Given the description of an element on the screen output the (x, y) to click on. 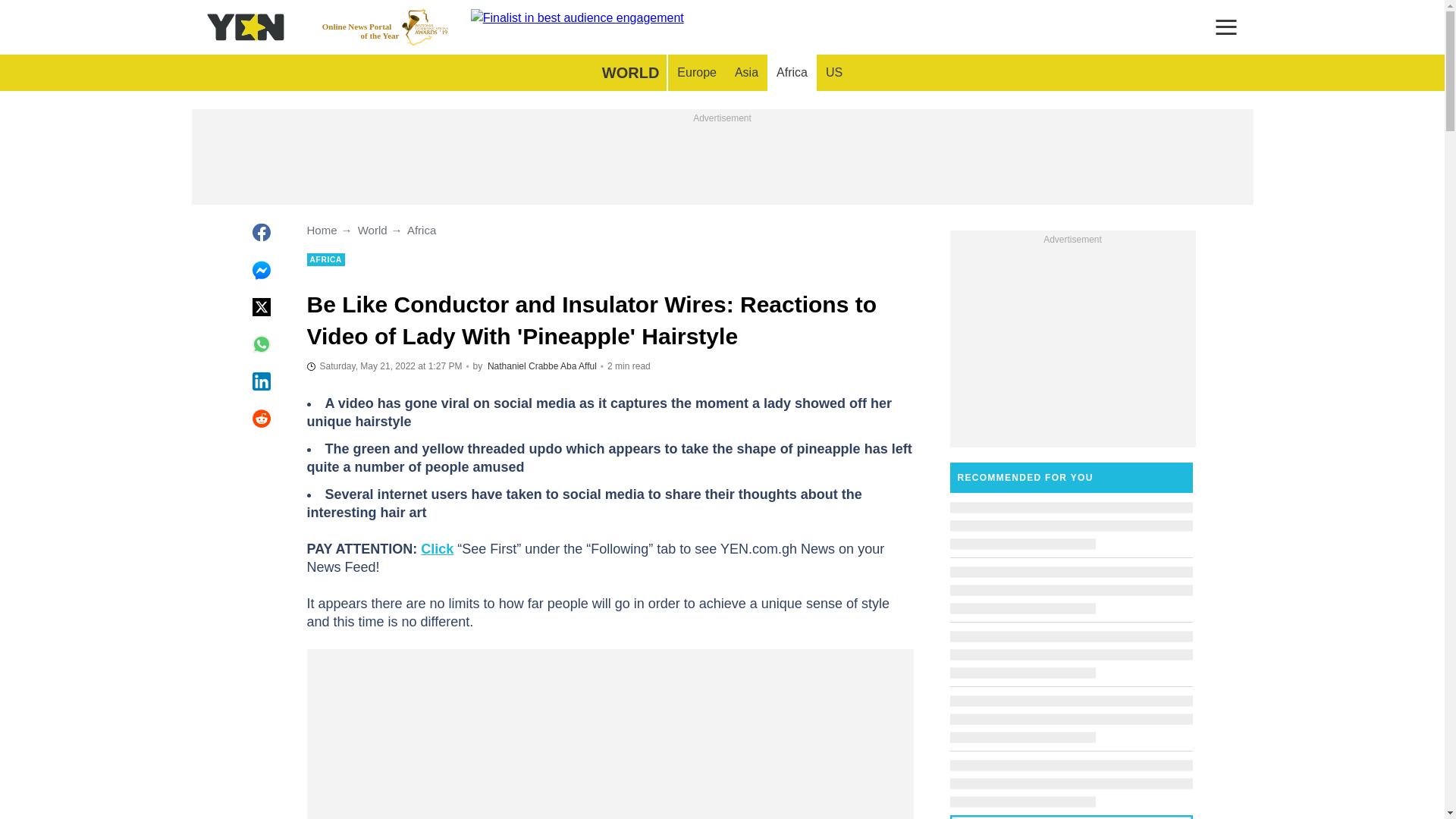
Asia (746, 72)
Author page (522, 366)
2022-05-21T13:27:52Z (383, 366)
Africa (791, 72)
Author page (578, 366)
Europe (696, 72)
WORLD (630, 72)
US (384, 27)
